Given the description of an element on the screen output the (x, y) to click on. 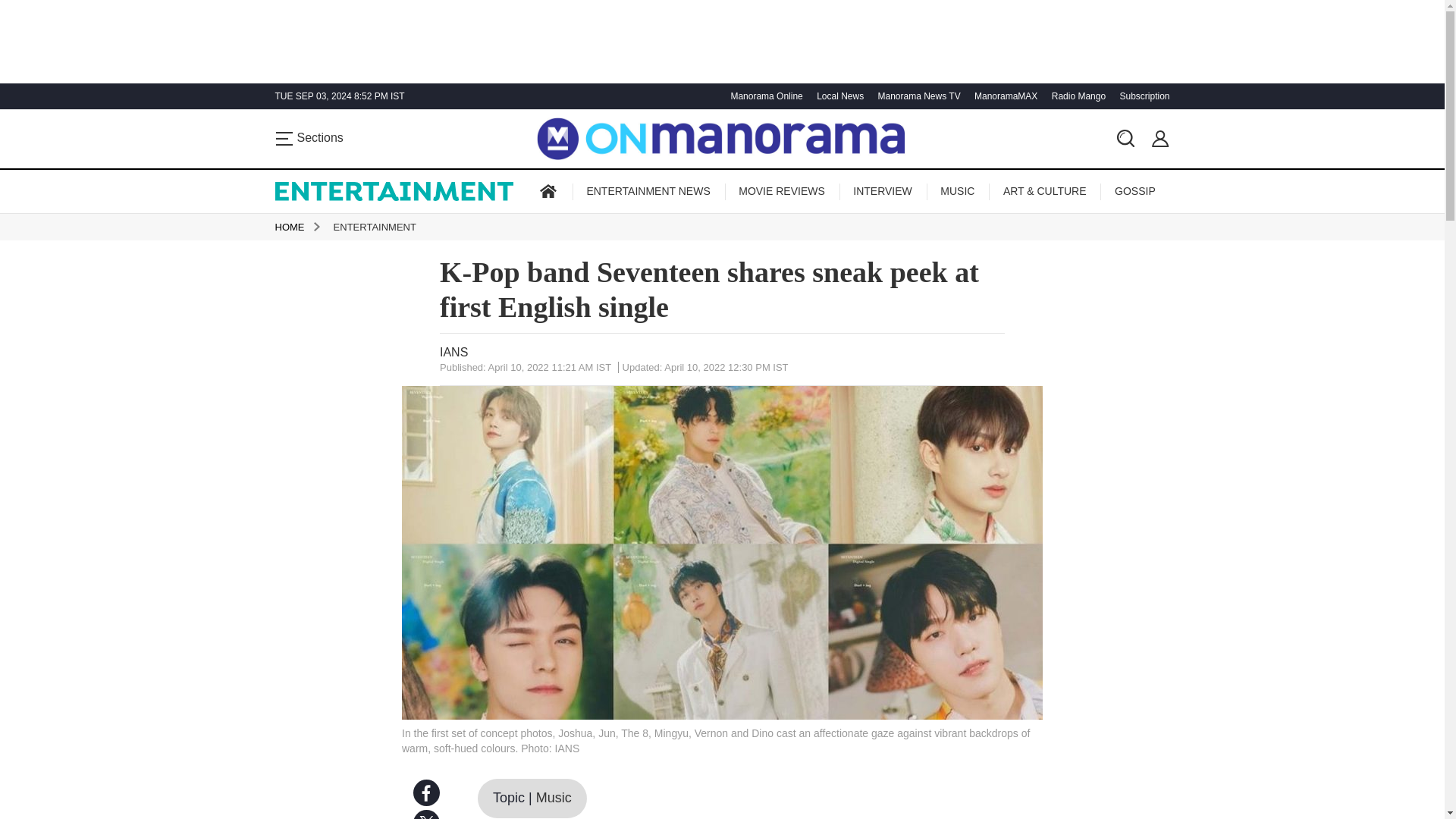
Manorama News TV (916, 95)
MUSIC (957, 191)
MOVIE REVIEWS (781, 191)
Manorama Online (764, 95)
INTERVIEW (882, 191)
Local News (837, 95)
Radio Mango (1076, 95)
Subscription (1142, 95)
ENTERTAINMENT NEWS (647, 191)
ManoramaMAX (1003, 95)
